Given the description of an element on the screen output the (x, y) to click on. 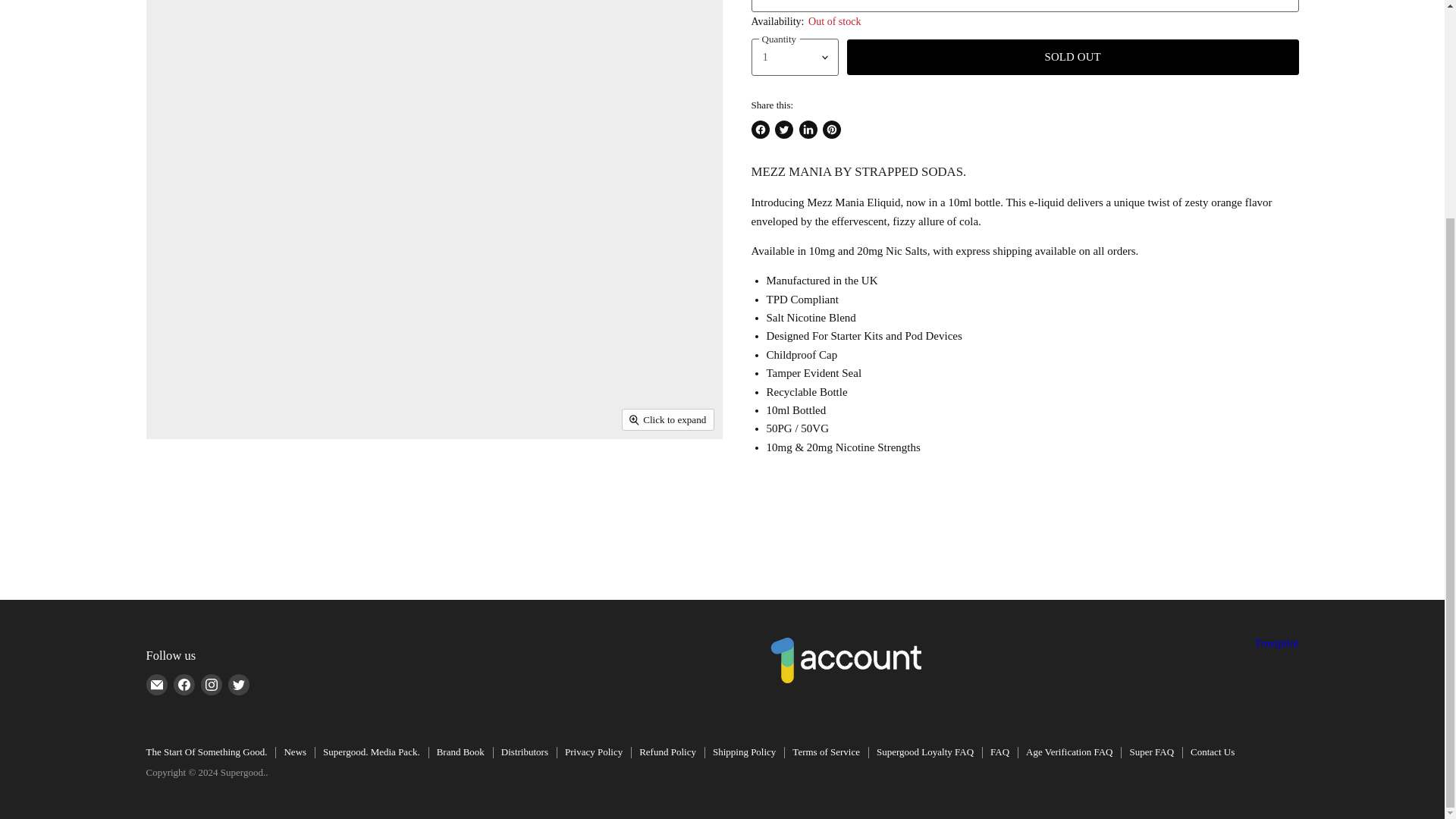
E-mail (156, 684)
Facebook (183, 684)
Twitter (237, 684)
Instagram (210, 684)
